Given the description of an element on the screen output the (x, y) to click on. 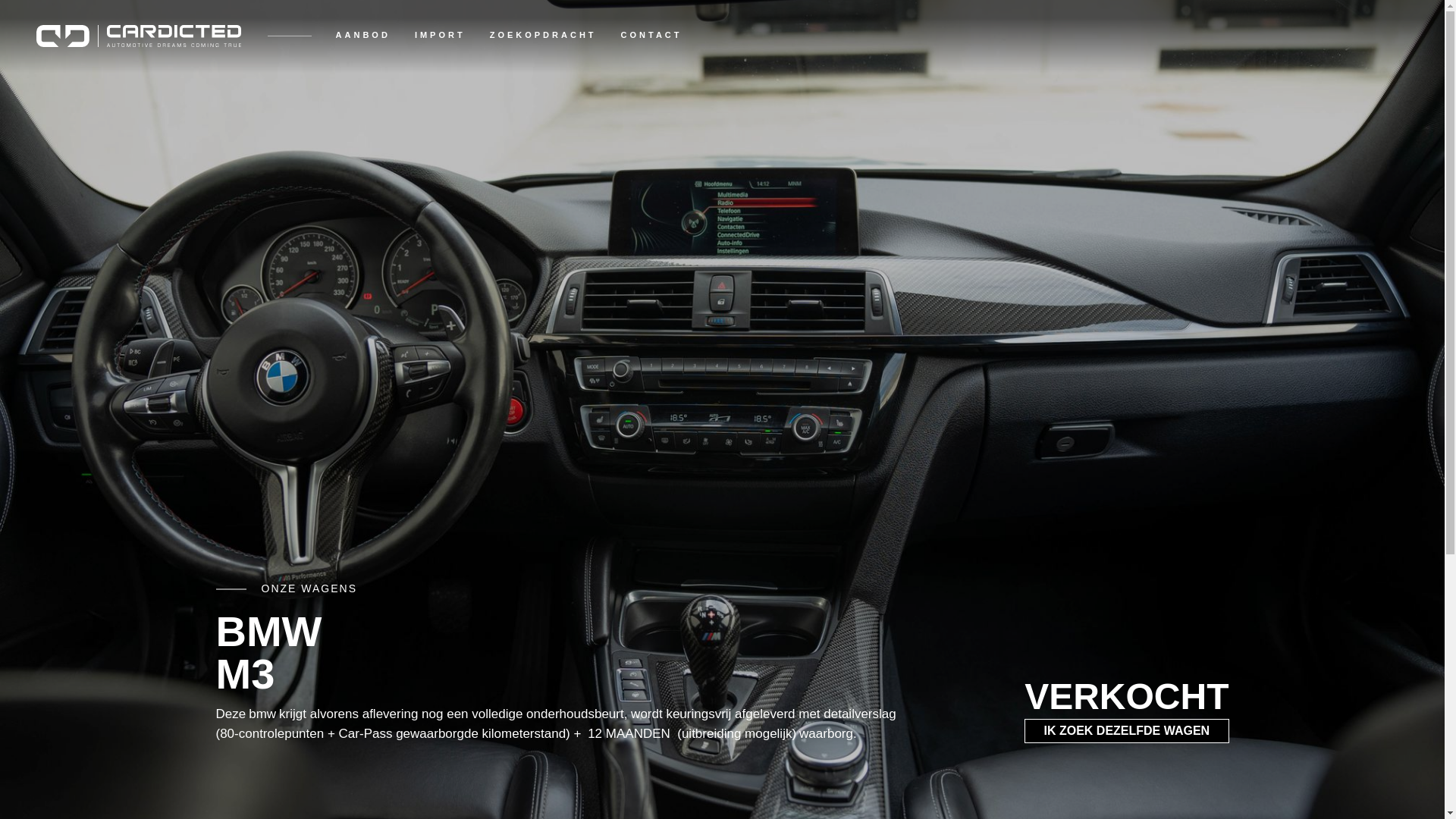
CONTACT Element type: text (651, 35)
IMPORT Element type: text (439, 35)
IK ZOEK DEZELFDE WAGEN Element type: text (1126, 730)
AANBOD Element type: text (362, 35)
ZOEKOPDRACHT Element type: text (542, 35)
